Given the description of an element on the screen output the (x, y) to click on. 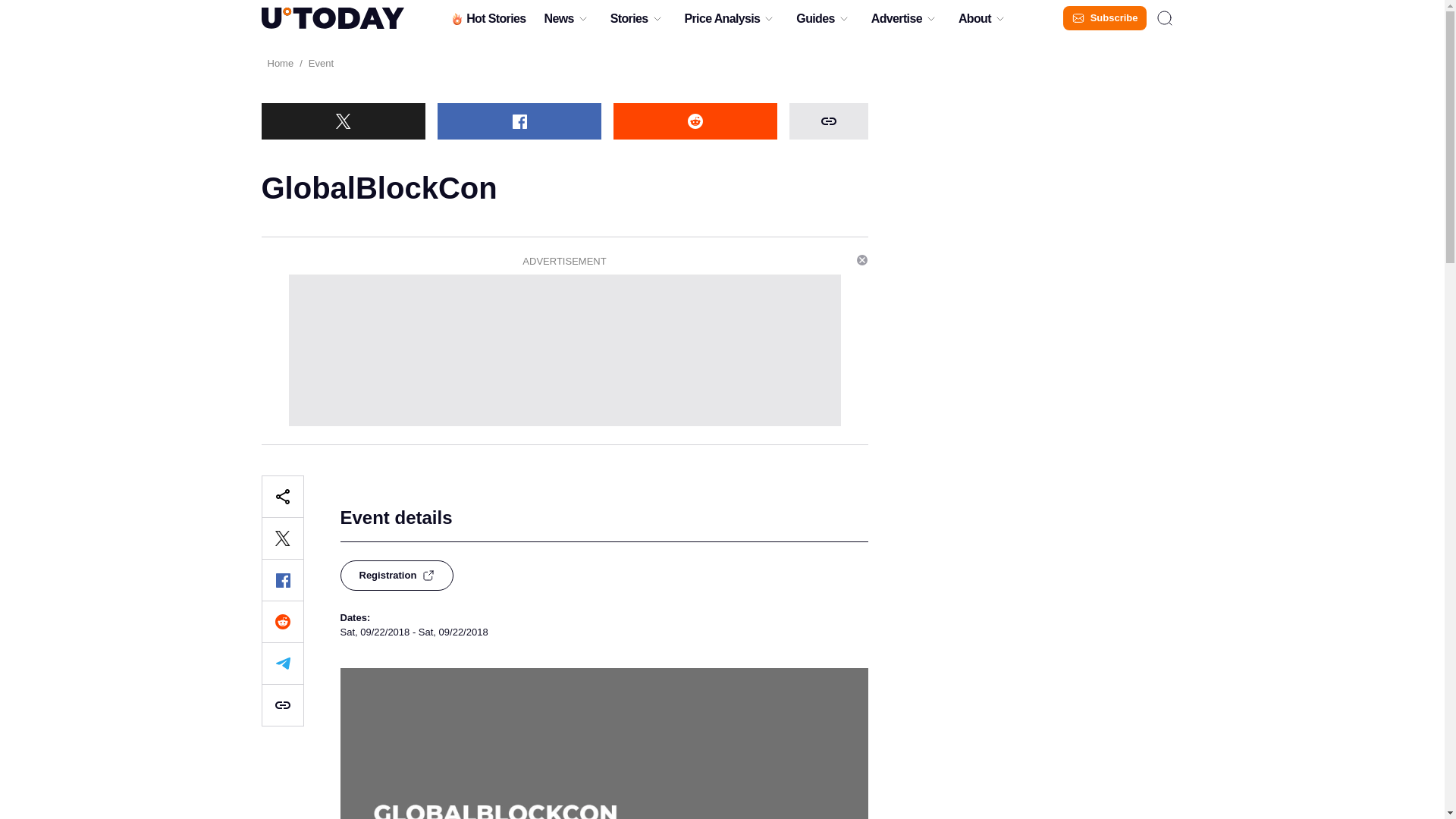
Share to Facebook (517, 121)
Share to X (281, 537)
Share to Telegram (281, 663)
News (558, 22)
U.Today logo (331, 17)
Share to Reddit (281, 621)
Stories (628, 22)
Share to X (342, 121)
Share to Facebook (281, 579)
Hot Stories (486, 22)
